Given the description of an element on the screen output the (x, y) to click on. 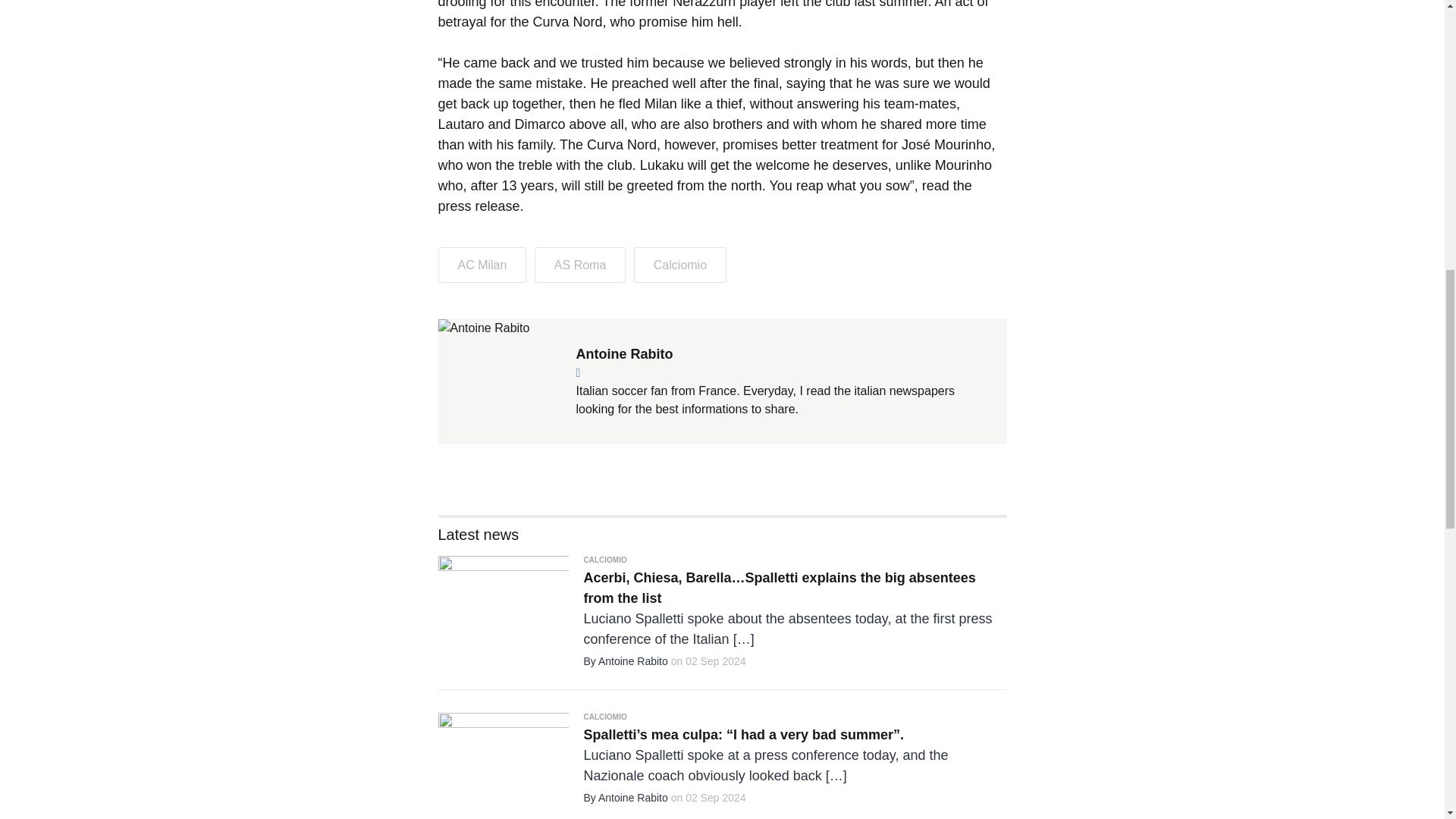
CALCIOMIO (605, 716)
AC Milan (482, 264)
CALCIOMIO (605, 560)
Calciomio (679, 264)
AS Roma (580, 264)
